Given the description of an element on the screen output the (x, y) to click on. 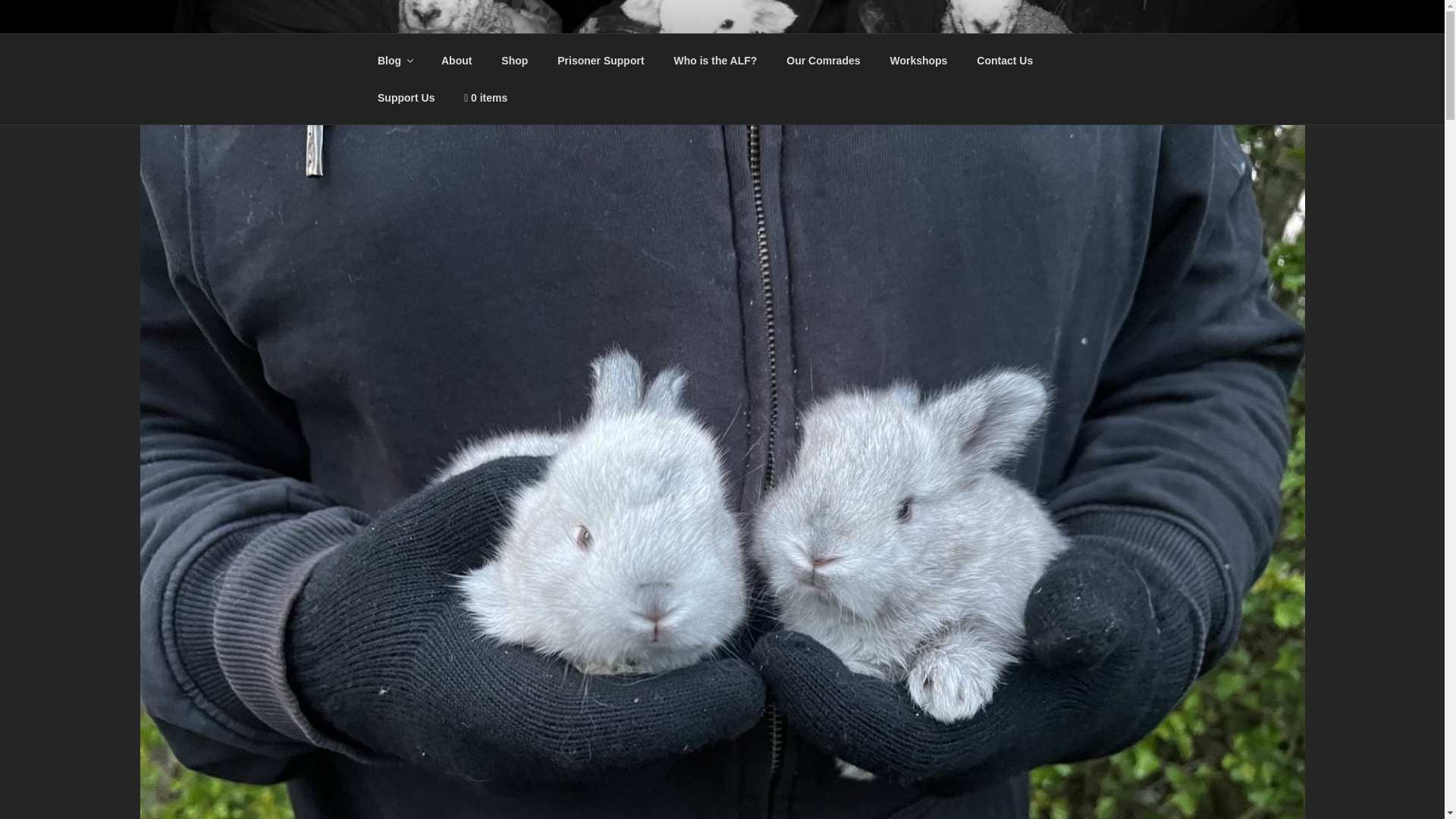
About (456, 60)
Start shopping (486, 97)
Shop (514, 60)
Who is the ALF? (715, 60)
Support Us (405, 97)
0 items (486, 97)
Our Comrades (823, 60)
Contact Us (1004, 60)
UNOFFENSIVE ANIMAL (551, 52)
Blog (394, 60)
Workshops (918, 60)
Prisoner Support (601, 60)
